Given the description of an element on the screen output the (x, y) to click on. 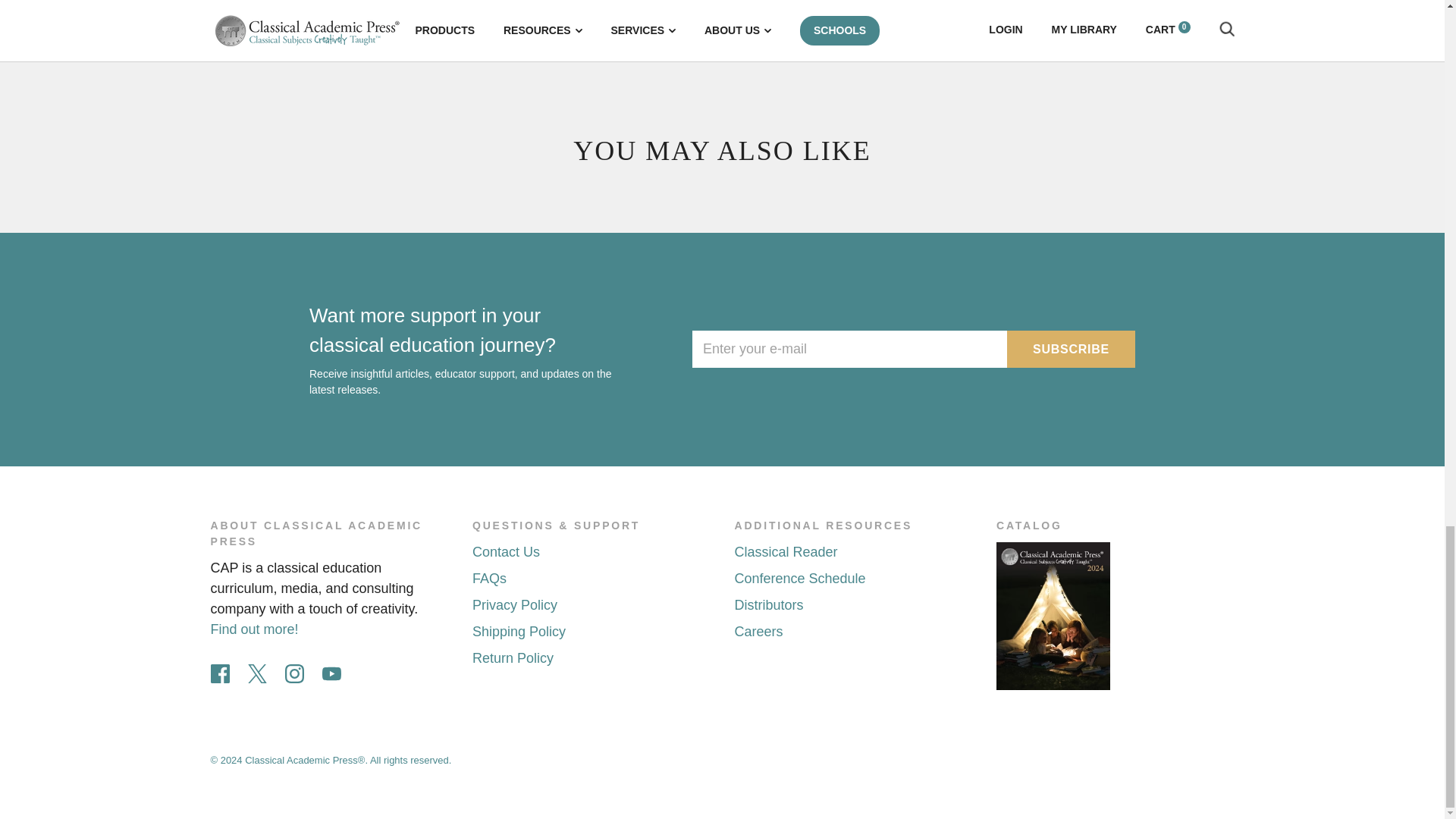
Our Story (254, 629)
Instagram (294, 673)
YouTube (330, 673)
Subscribe (1071, 348)
Twitter (256, 673)
Facebook (220, 673)
